Given the description of an element on the screen output the (x, y) to click on. 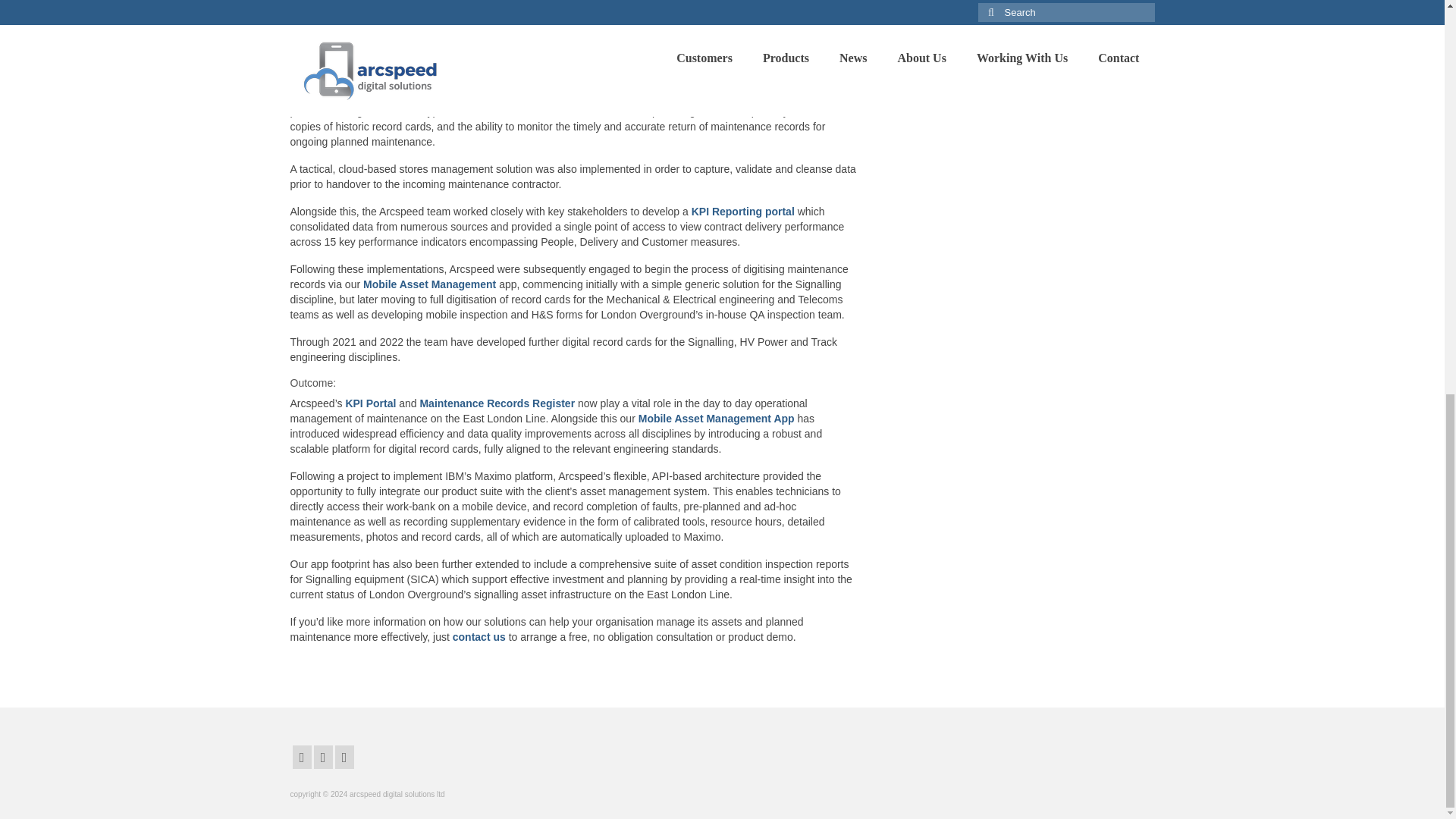
Maintenance Records Register (497, 403)
Mobile Asset Management App (716, 418)
Mobile Asset Management (429, 284)
KPI Reporting portal (742, 211)
Maintenance Records Register (741, 96)
KPI Portal (370, 403)
contact us (478, 636)
